Given the description of an element on the screen output the (x, y) to click on. 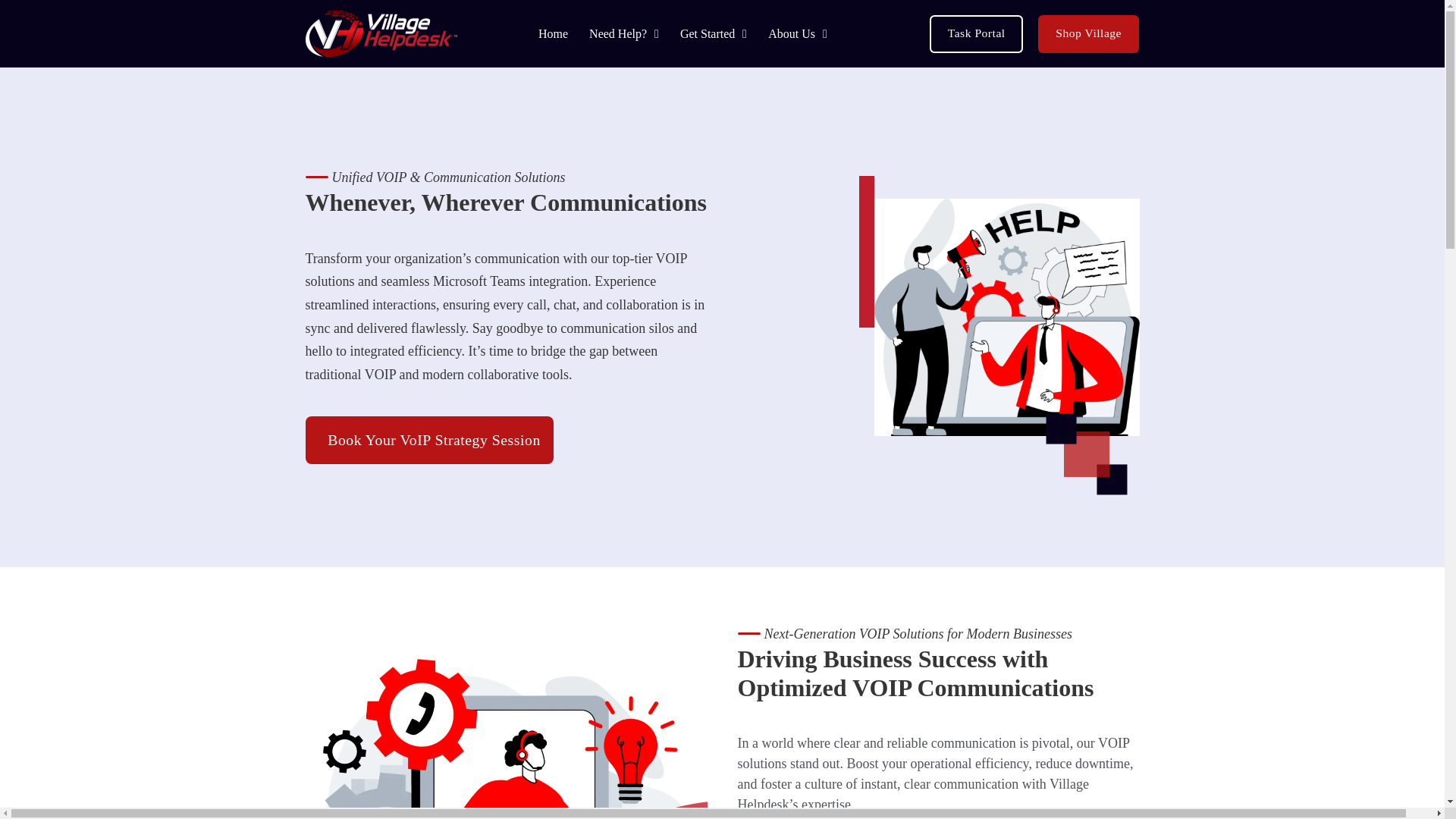
Get Started (707, 33)
About Us (791, 33)
Shop Village (1089, 34)
Need Help? (617, 33)
Home (552, 33)
Book Your VoIP Strategy Session (428, 440)
Task Portal (976, 34)
